Given the description of an element on the screen output the (x, y) to click on. 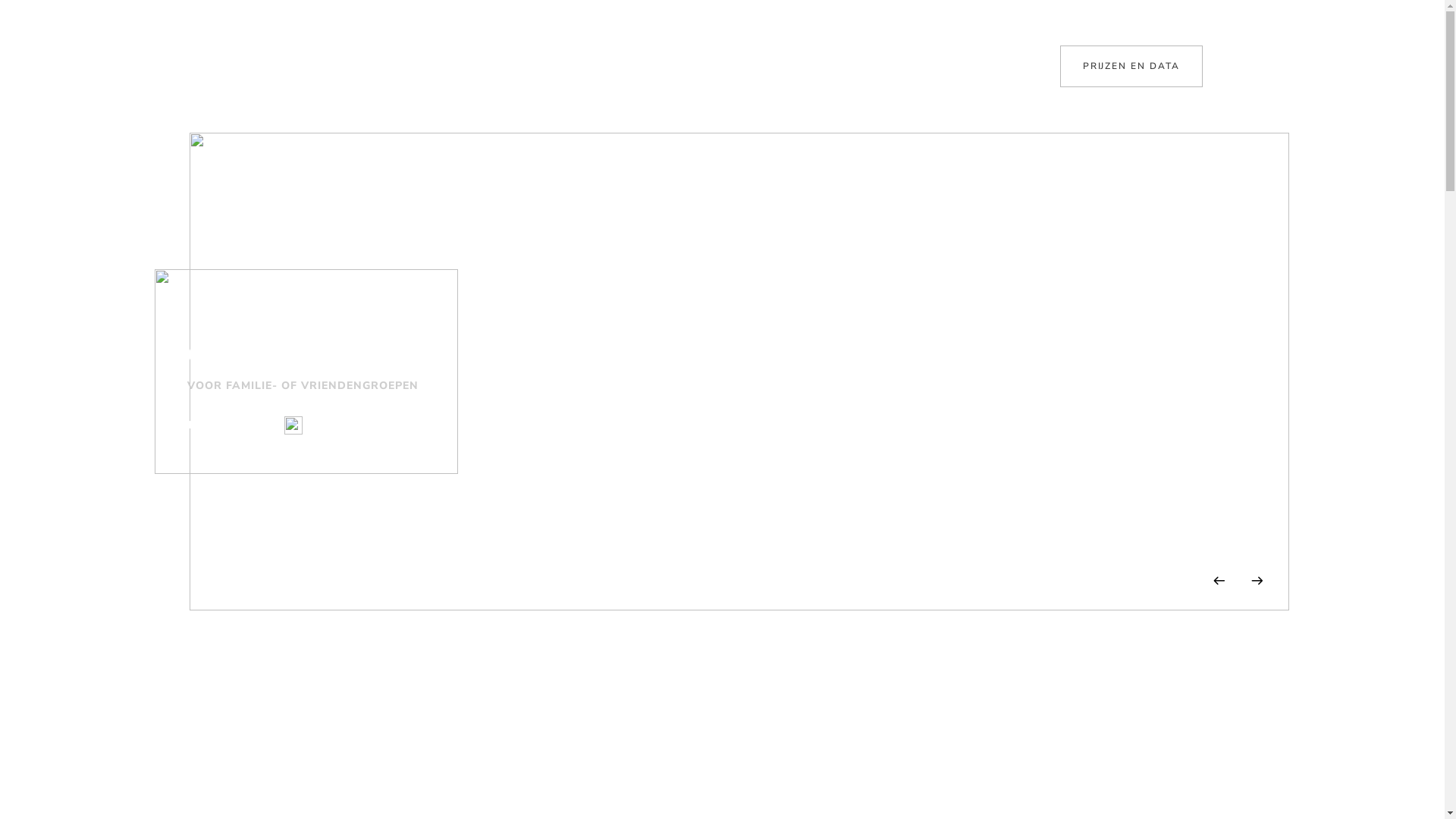
RESERVEER NU Element type: text (232, 424)
PRIJZEN EN DATA Element type: text (1131, 66)
